Given the description of an element on the screen output the (x, y) to click on. 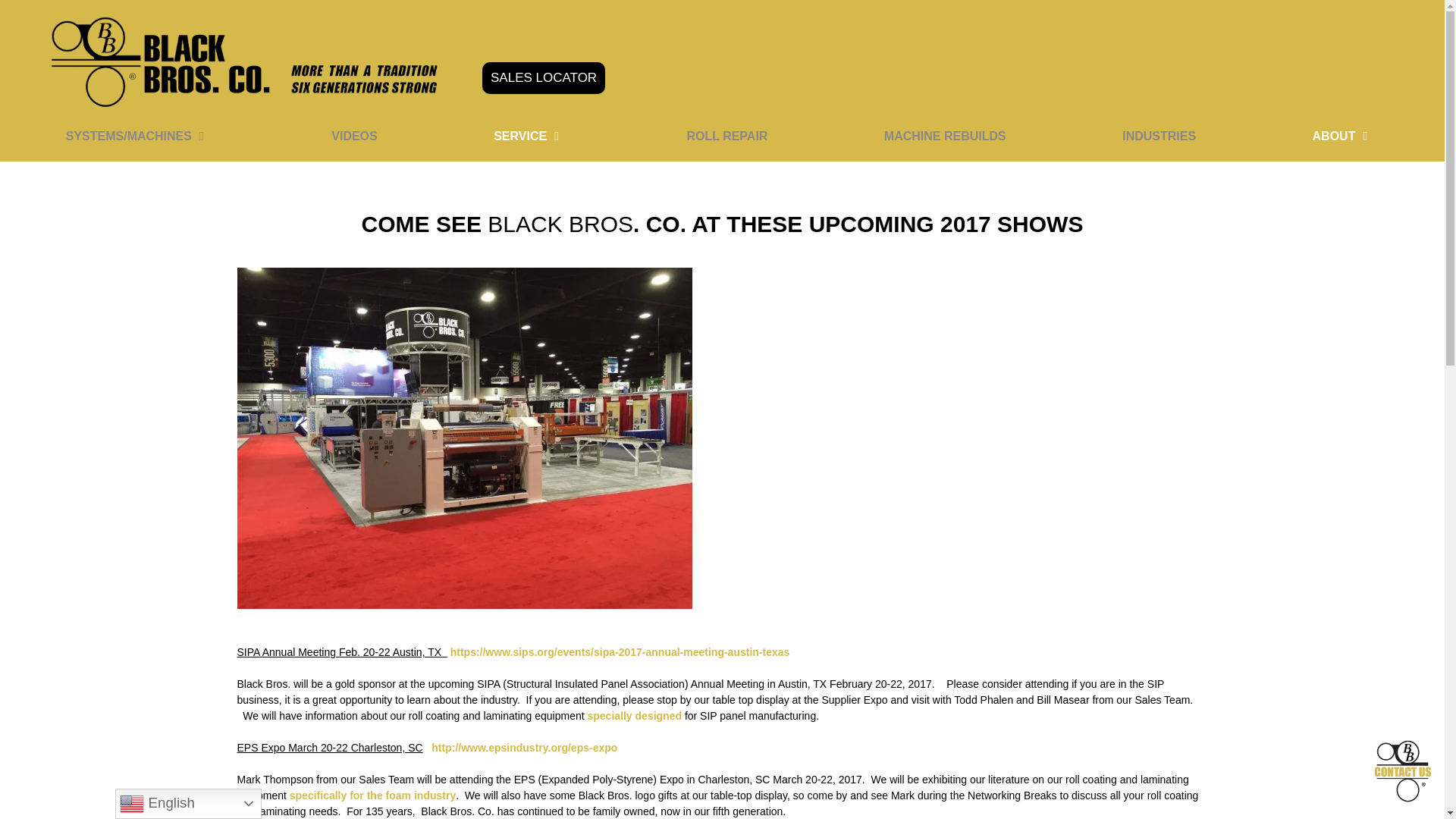
SALES LOCATOR (543, 78)
